Given the description of an element on the screen output the (x, y) to click on. 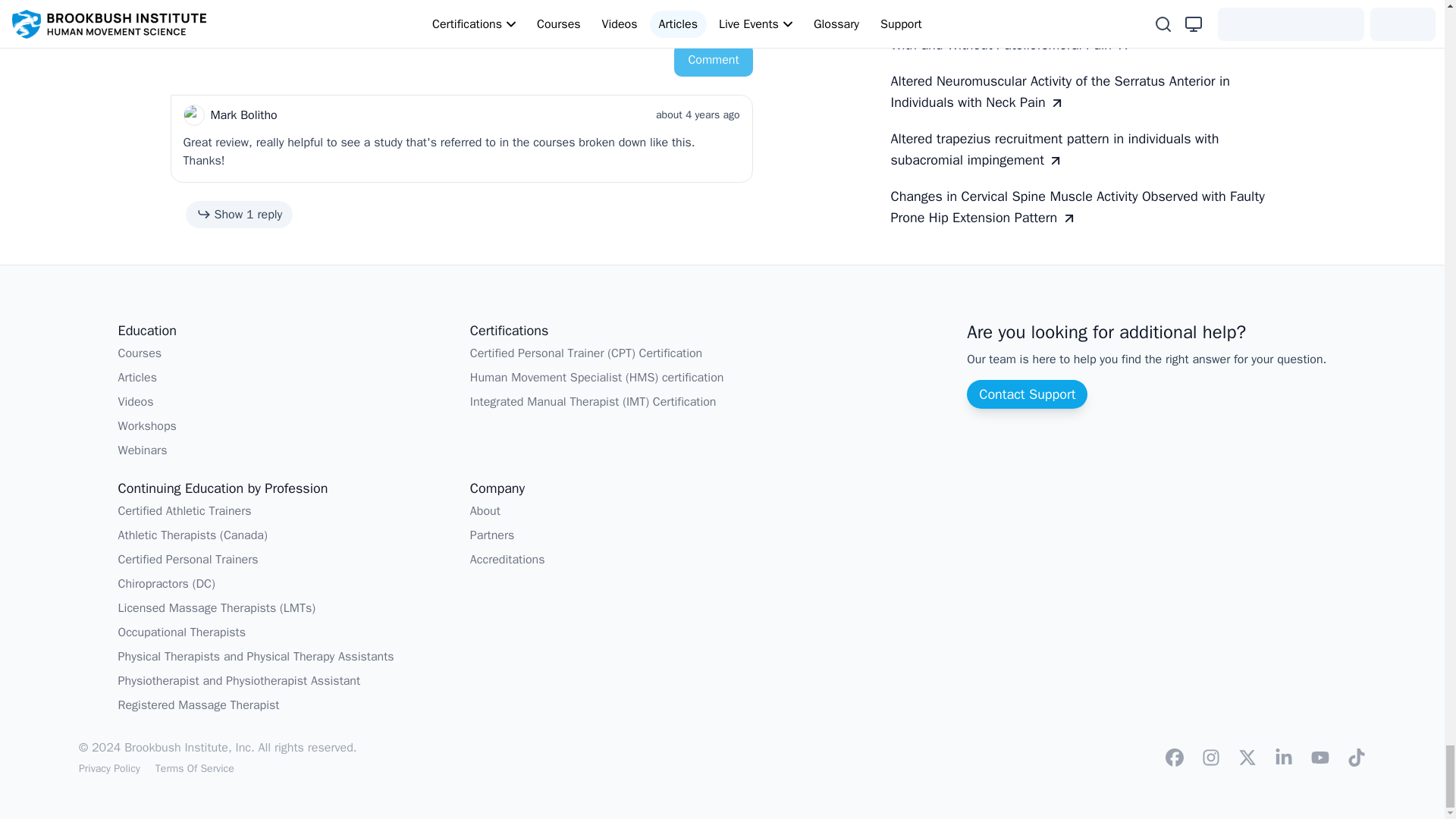
Show 1 reply (238, 214)
Comment (713, 59)
